Given the description of an element on the screen output the (x, y) to click on. 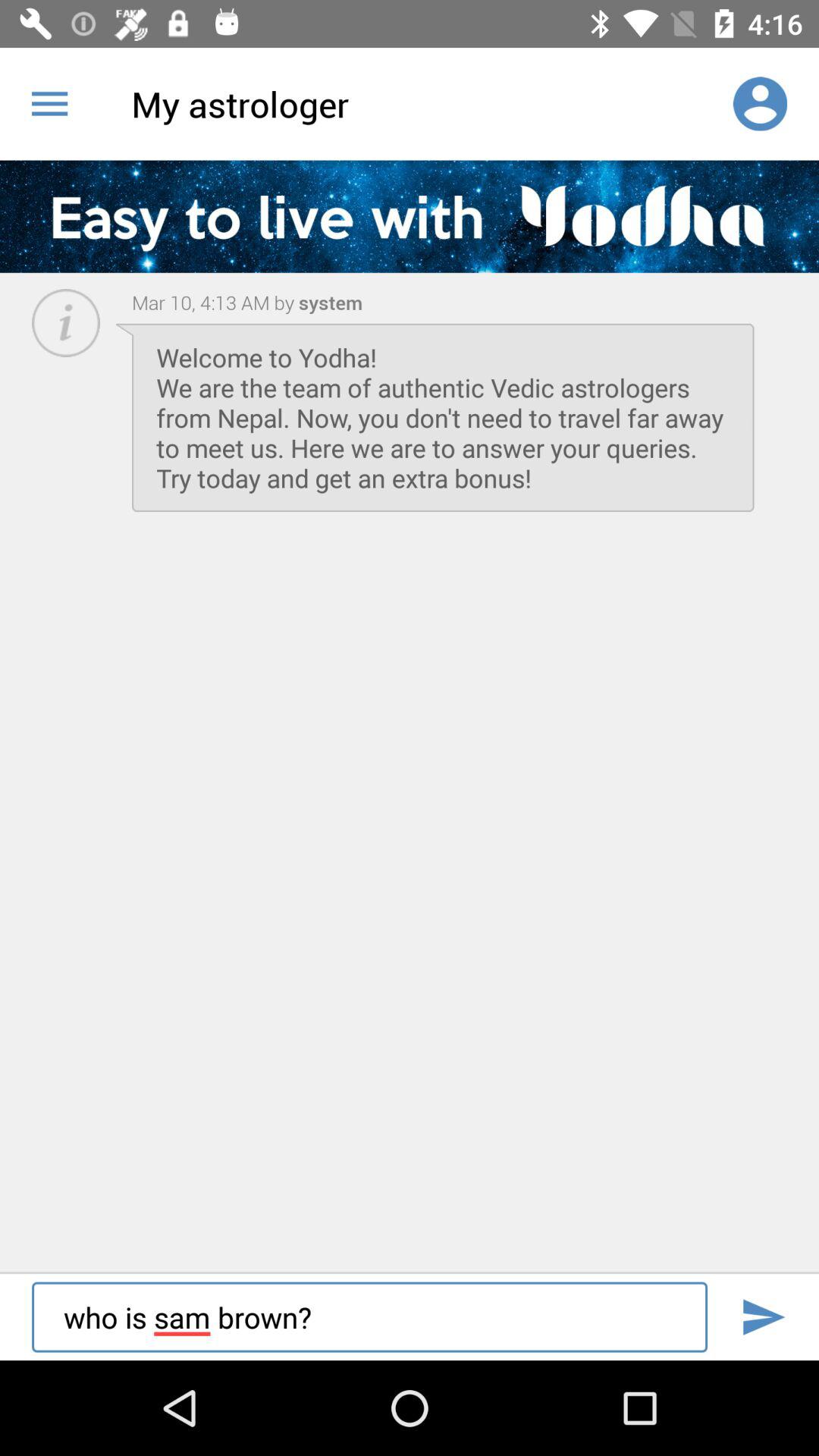
tap the system (328, 301)
